Given the description of an element on the screen output the (x, y) to click on. 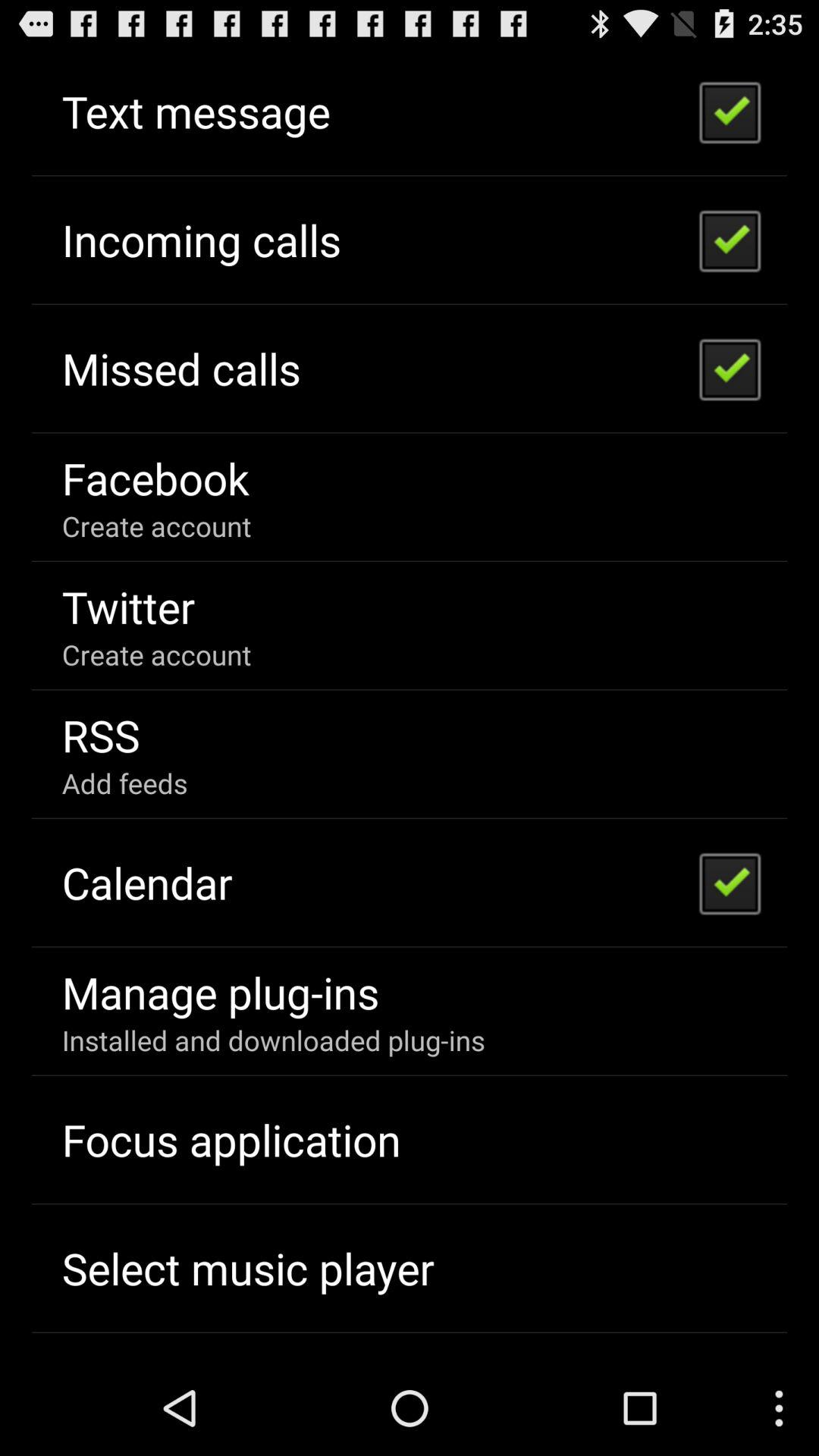
select the item at the bottom (273, 1040)
